Given the description of an element on the screen output the (x, y) to click on. 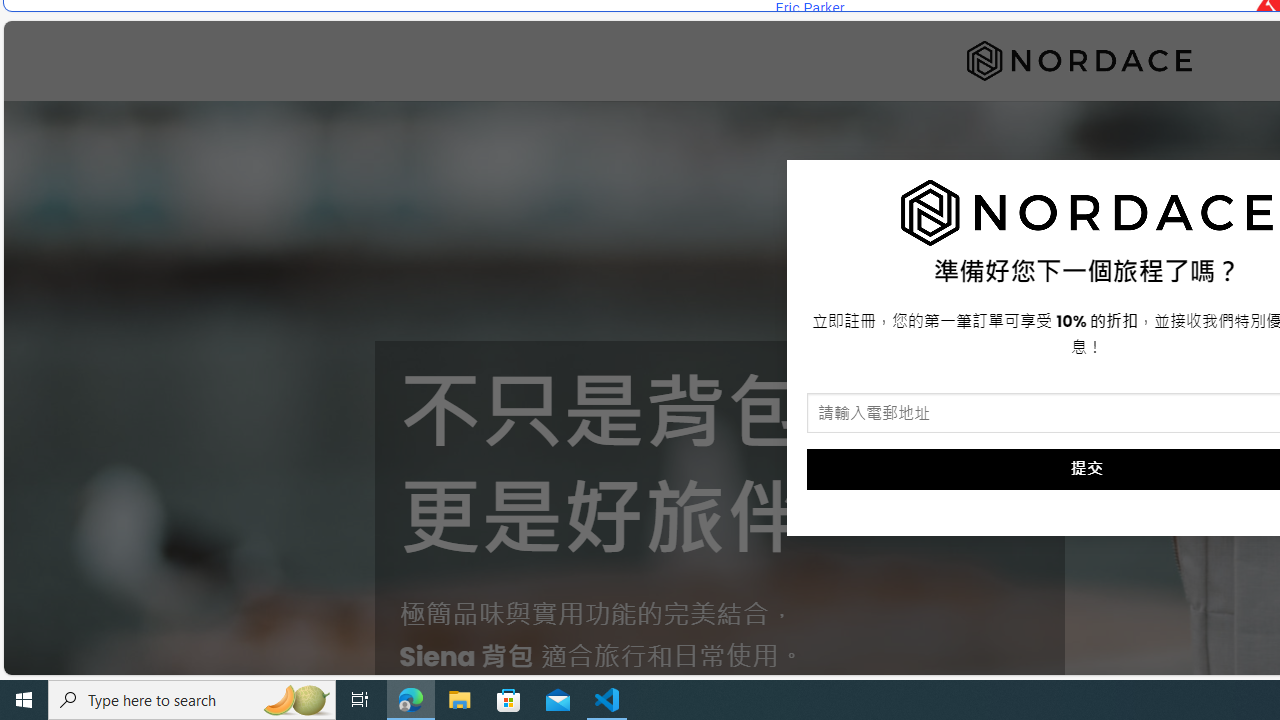
Nordace (1079, 60)
Eric Parker (809, 8)
To get missing image descriptions, open the context menu. (1087, 213)
